Given the description of an element on the screen output the (x, y) to click on. 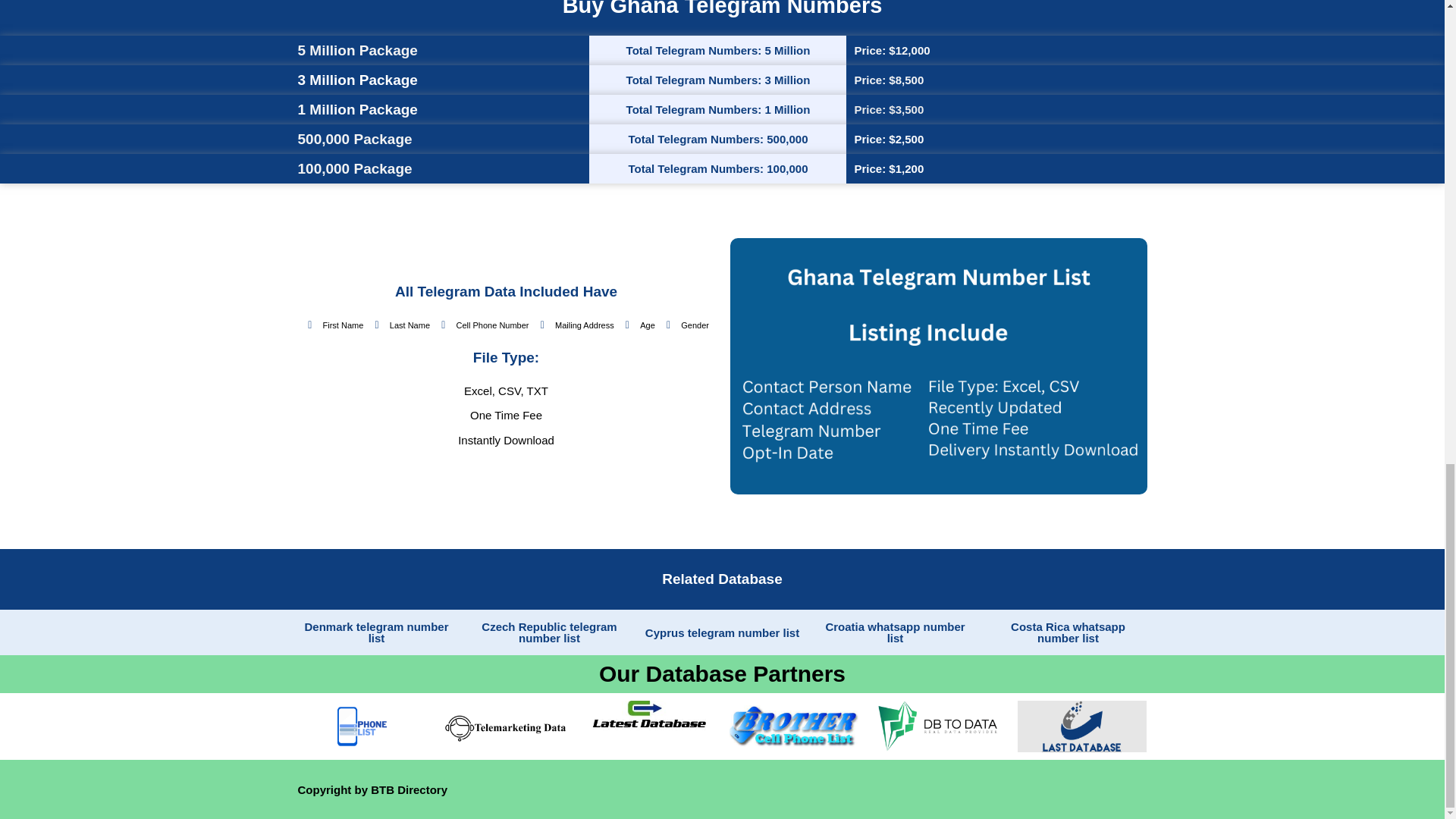
Costa Rica whatsapp number list (1067, 631)
Czech Republic telegram number list (548, 631)
Croatia whatsapp number list (894, 631)
BTB Directory (408, 789)
Cyprus telegram number list (722, 632)
Denmark telegram number list (376, 631)
